Given the description of an element on the screen output the (x, y) to click on. 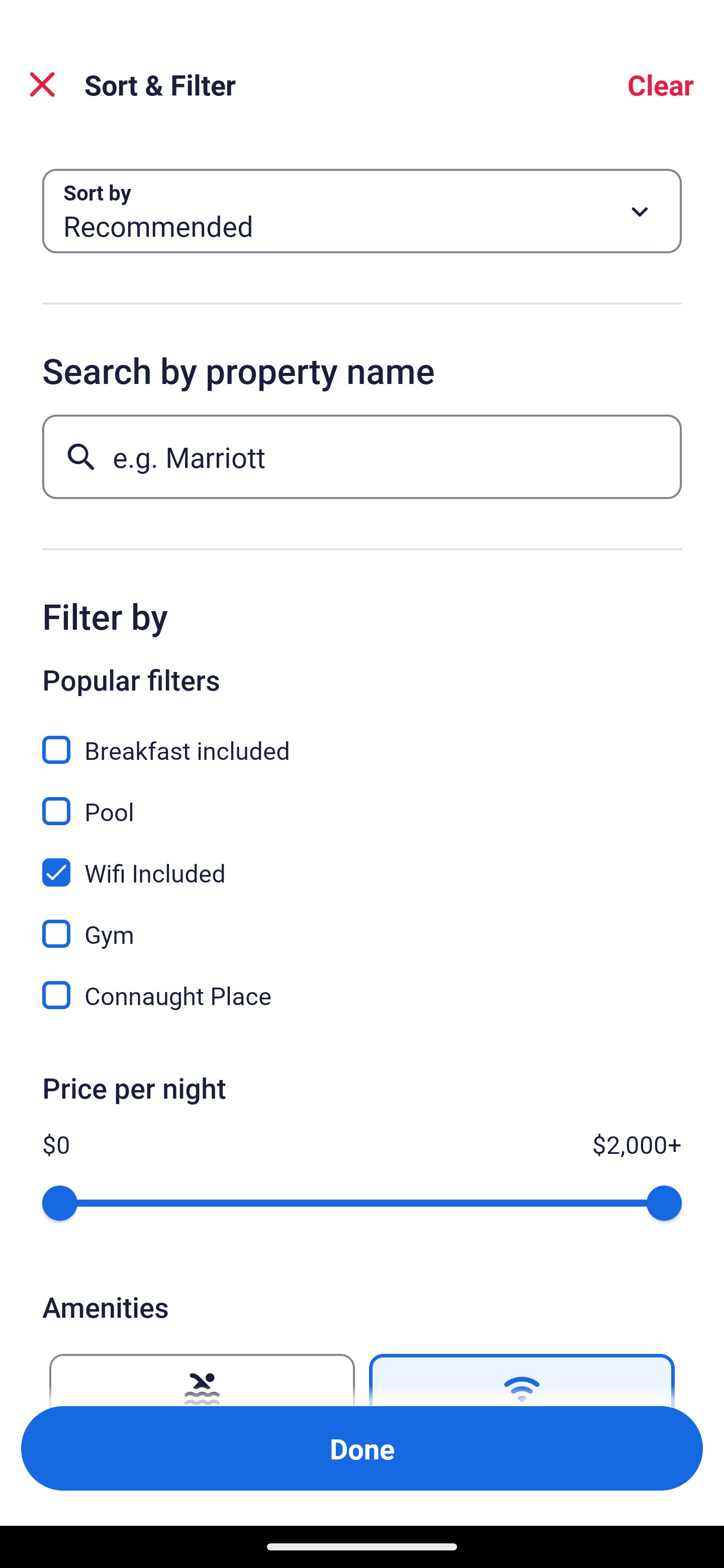
Close Sort and Filter (42, 84)
Clear (660, 84)
Sort by Button Recommended (361, 211)
e.g. Marriott Button (361, 455)
Breakfast included, Breakfast included (361, 738)
Pool, Pool (361, 800)
Wifi Included, Wifi Included (361, 861)
Gym, Gym (361, 922)
Connaught Place, Connaught Place (361, 995)
Apply and close Sort and Filter Done (361, 1448)
